Given the description of an element on the screen output the (x, y) to click on. 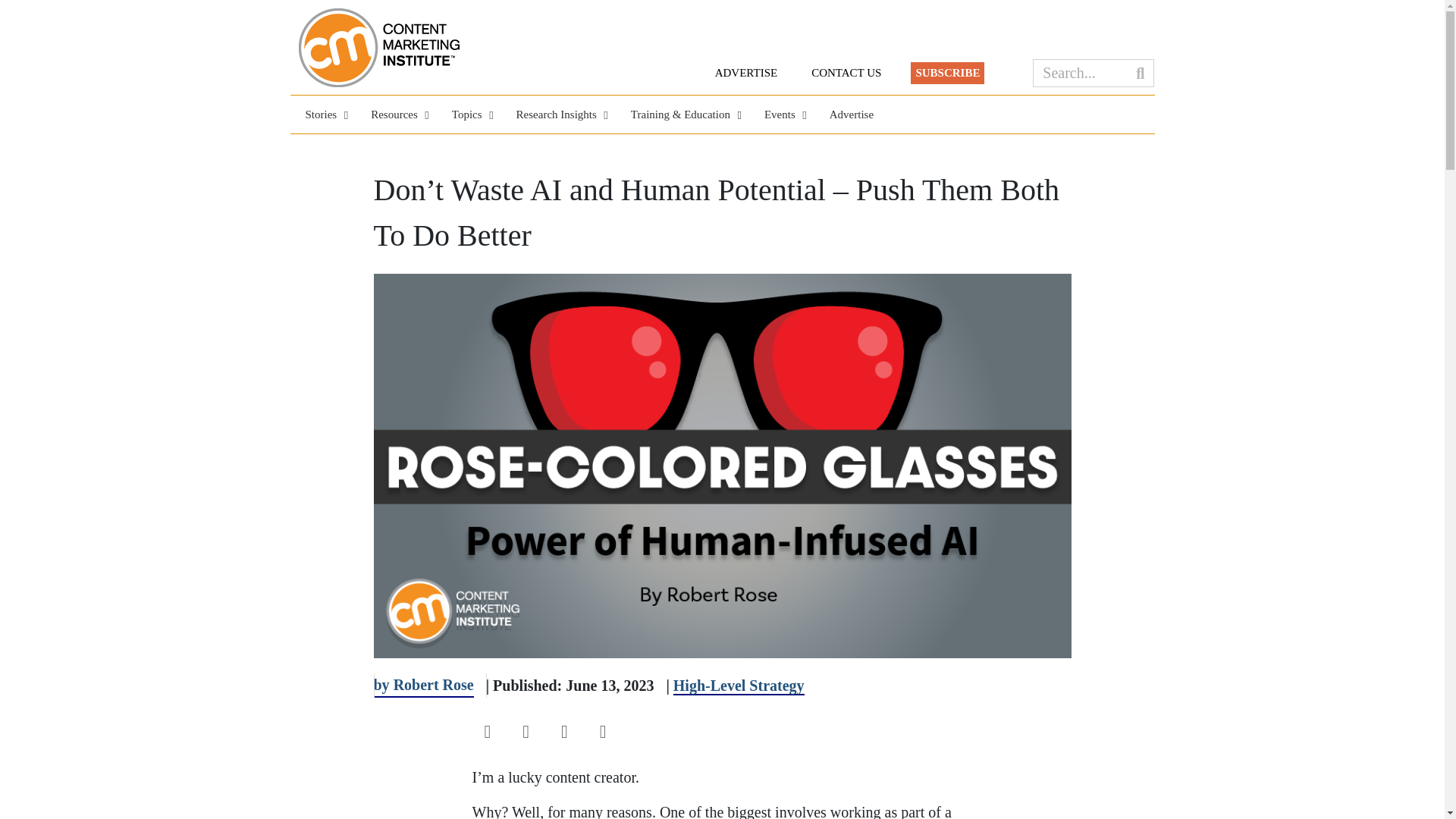
SUBSCRIBE (947, 73)
Topics (468, 114)
Resources (395, 114)
ADVERTISE (745, 73)
Stories (322, 114)
CONTACT US (845, 73)
